Given the description of an element on the screen output the (x, y) to click on. 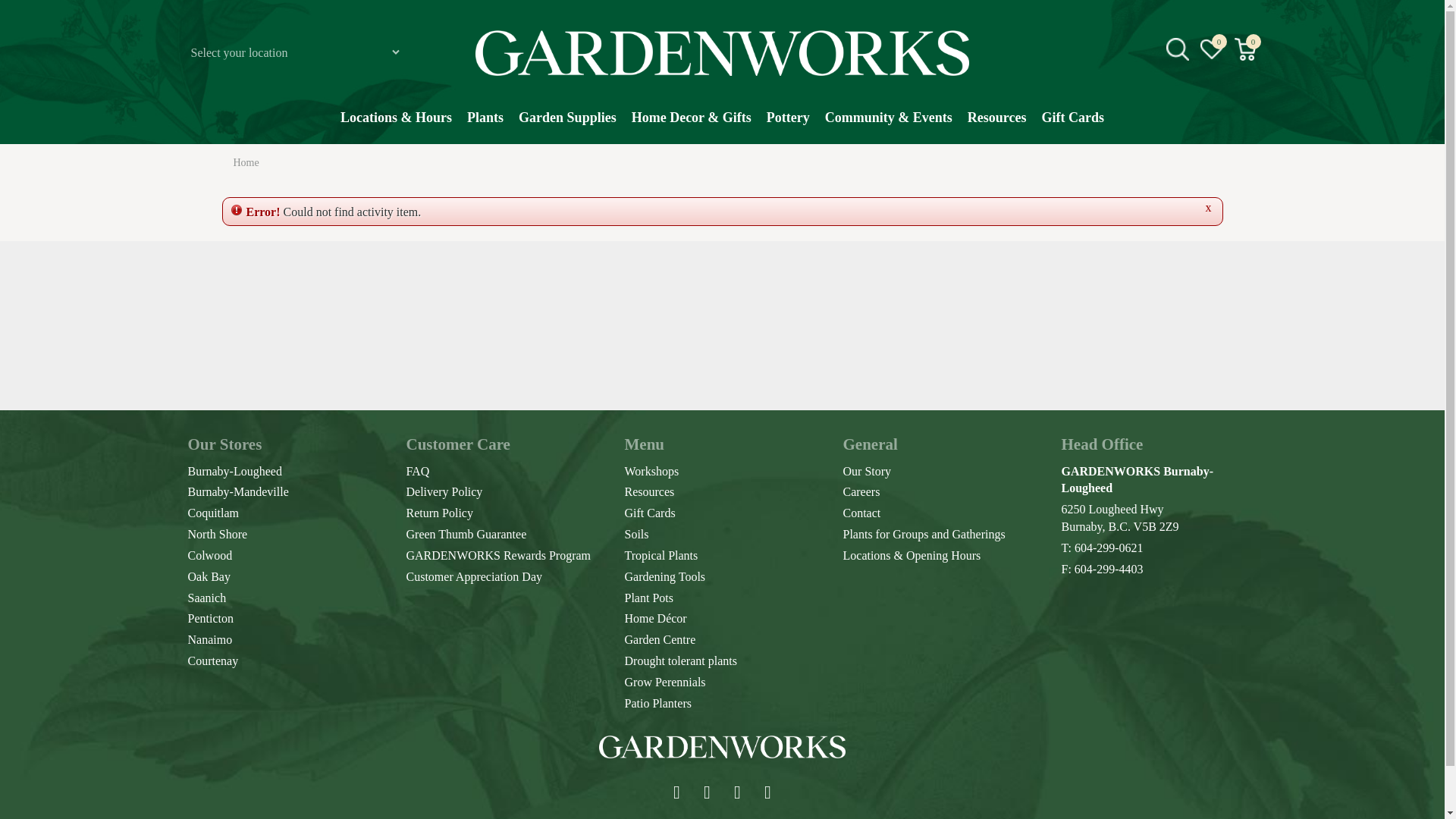
Plants (485, 125)
Home (245, 162)
No items in shopping cart (1245, 48)
Garden Supplies (566, 125)
GARDENWORKS garden centres (722, 53)
Search (1241, 168)
No items in wishlist (1211, 48)
Go to the wishlist (1211, 48)
Plants (485, 125)
Home (245, 162)
